Given the description of an element on the screen output the (x, y) to click on. 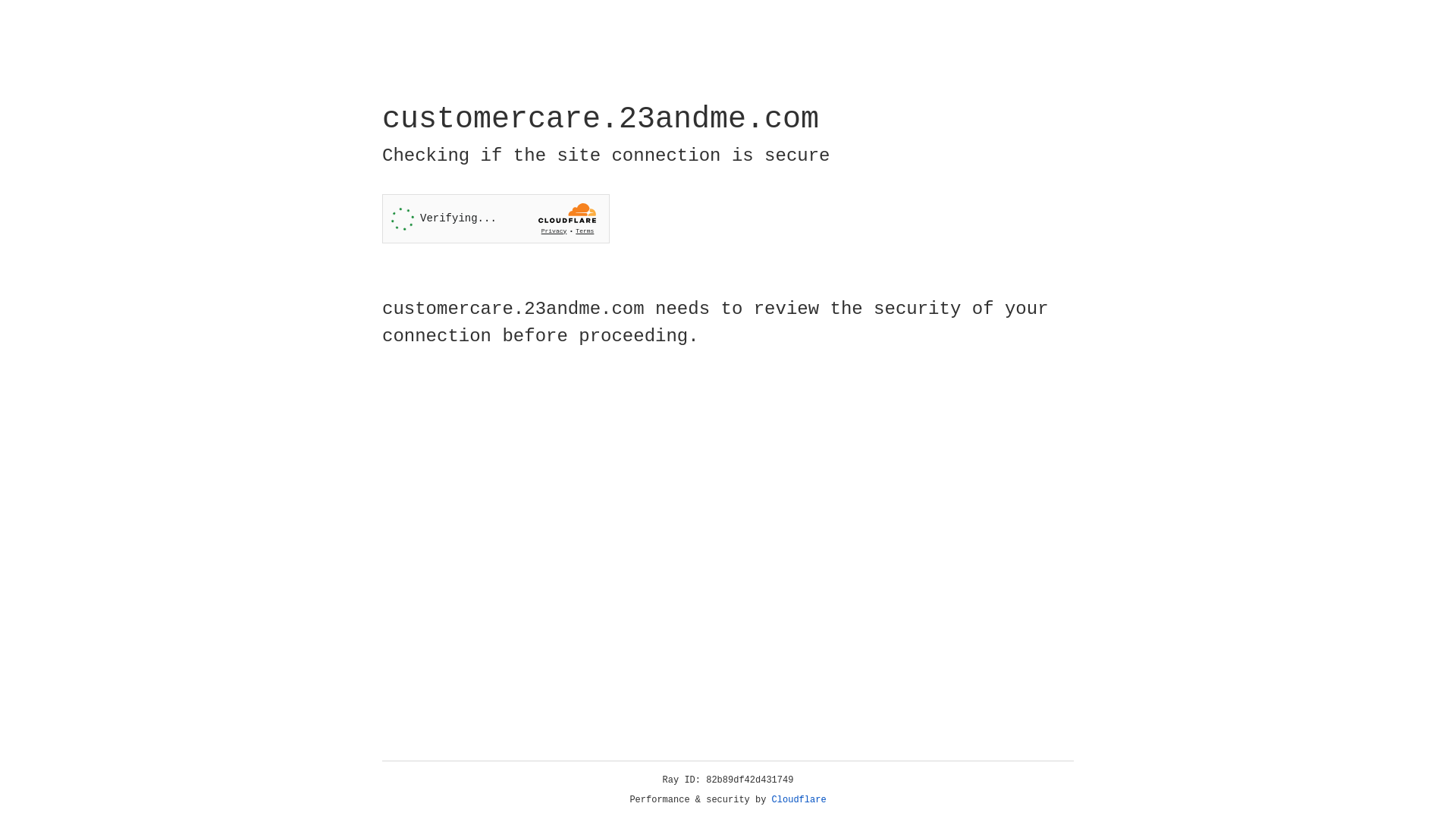
Widget containing a Cloudflare security challenge Element type: hover (495, 218)
Cloudflare Element type: text (798, 799)
